Given the description of an element on the screen output the (x, y) to click on. 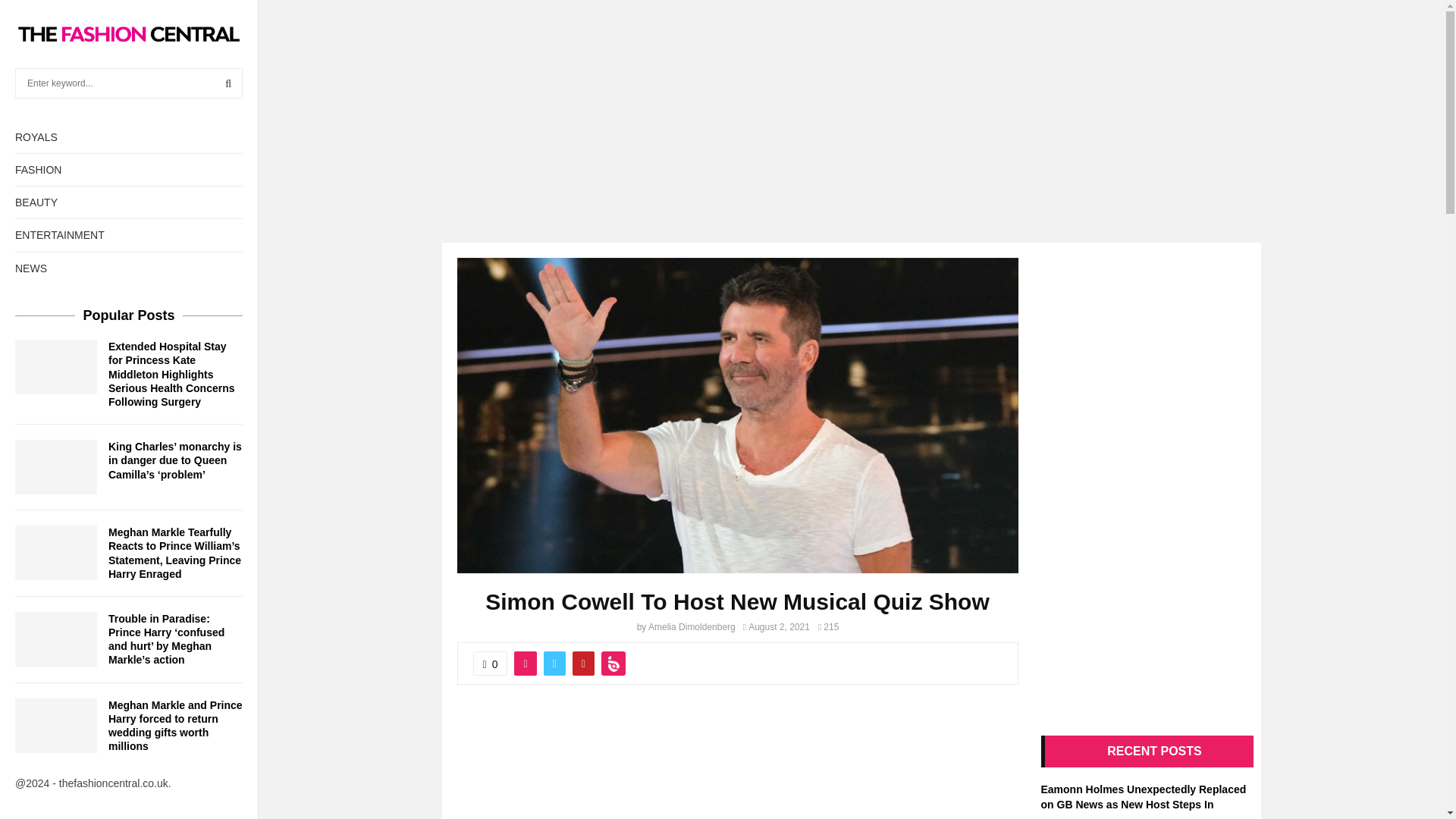
ENTERTAINMENT (128, 234)
ROYALS (128, 137)
Amelia Dimoldenberg (691, 626)
NEWS (128, 268)
FASHION (128, 169)
